Given the description of an element on the screen output the (x, y) to click on. 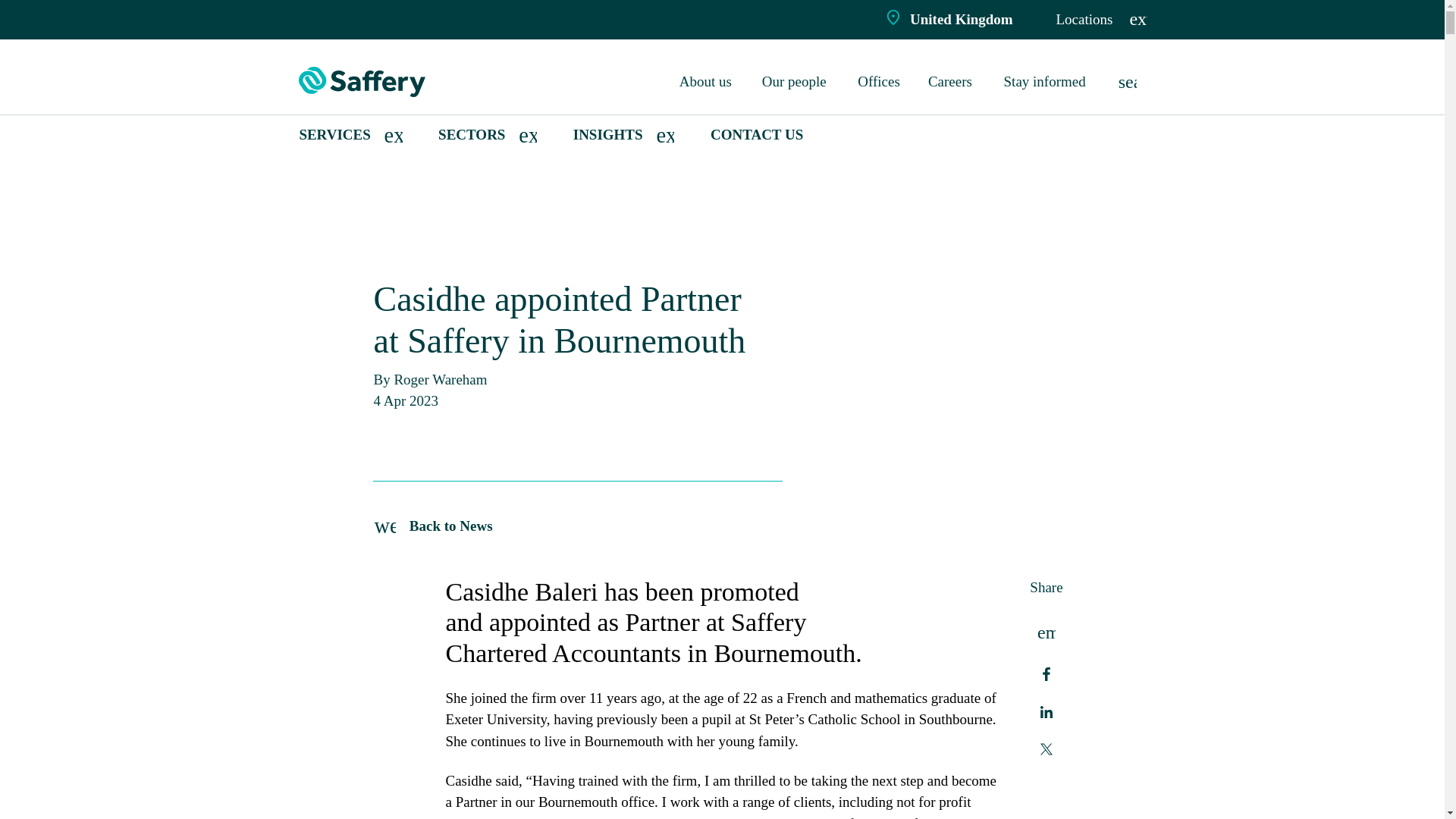
About us (706, 82)
Careers (951, 82)
Stay informed (1047, 82)
Offices (879, 82)
Our people (796, 82)
Casidhe appointed Partner at Saffery in Bournemouth (466, 184)
CONTACT US (756, 134)
